Given the description of an element on the screen output the (x, y) to click on. 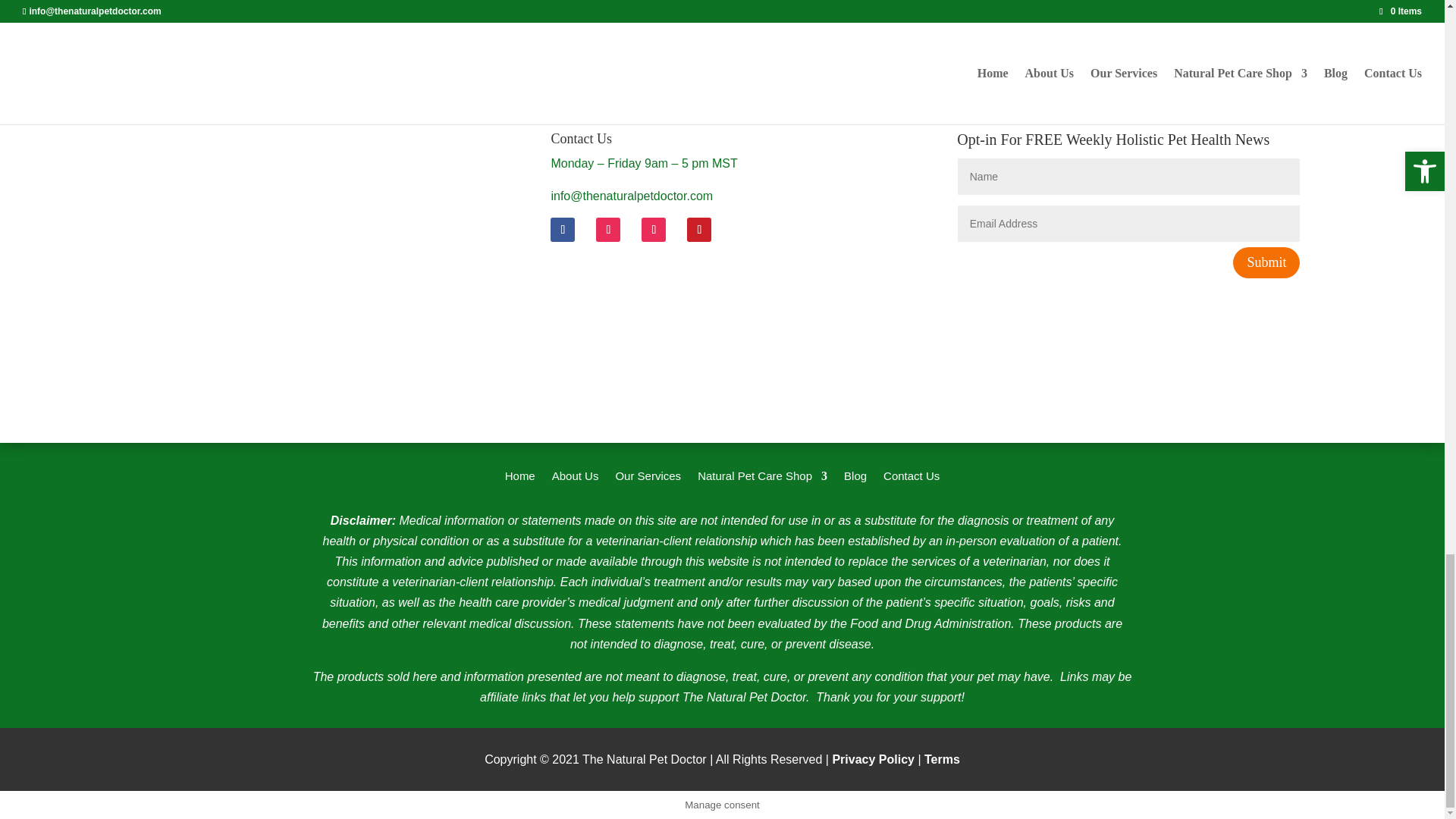
Home (520, 478)
About Us (574, 478)
Our Services (647, 478)
Natural Pet Care Shop (762, 478)
Follow on Youtube (653, 229)
Follow on Facebook (562, 229)
Privacy Policy (872, 758)
Contact Us (911, 478)
Submit (1266, 262)
Terms (941, 758)
